Given the description of an element on the screen output the (x, y) to click on. 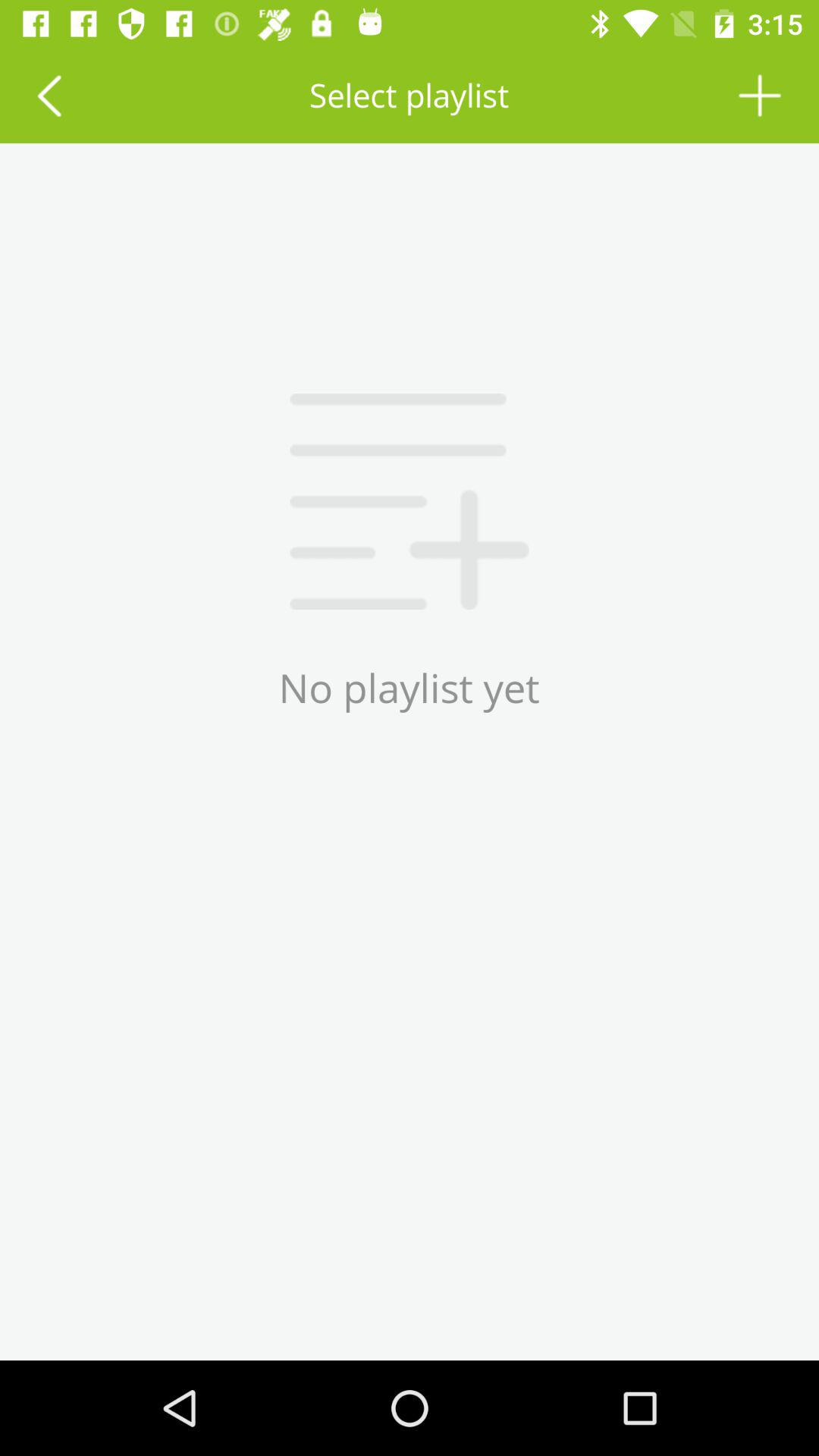
launch the icon next to the select playlist (759, 95)
